Given the description of an element on the screen output the (x, y) to click on. 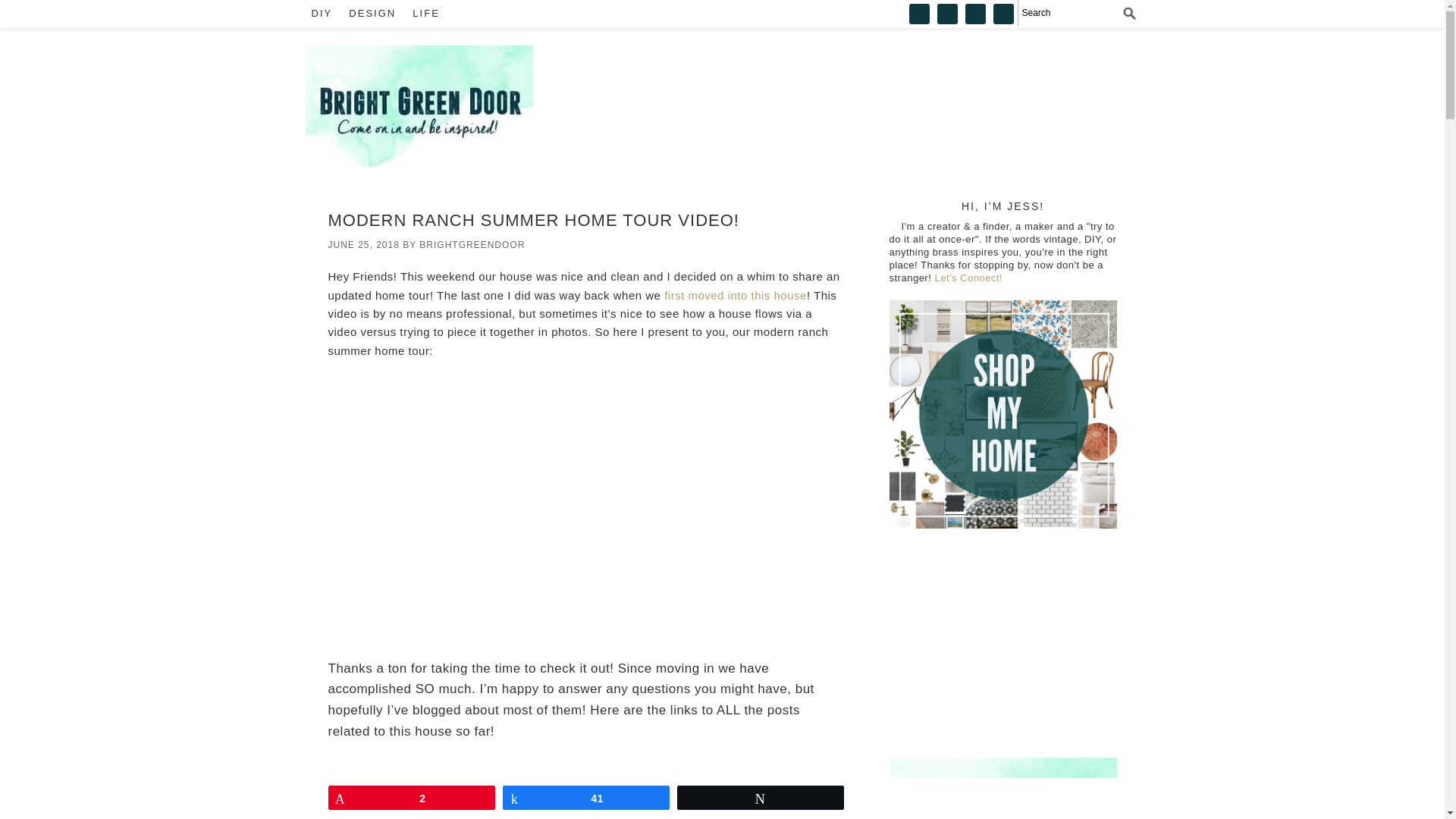
BRIGHTGREENDOOR (471, 244)
DIY (320, 13)
BRIGHT GREEN DOOR (418, 106)
DESIGN (371, 13)
LIFE (425, 13)
first moved into this house (734, 295)
